Given the description of an element on the screen output the (x, y) to click on. 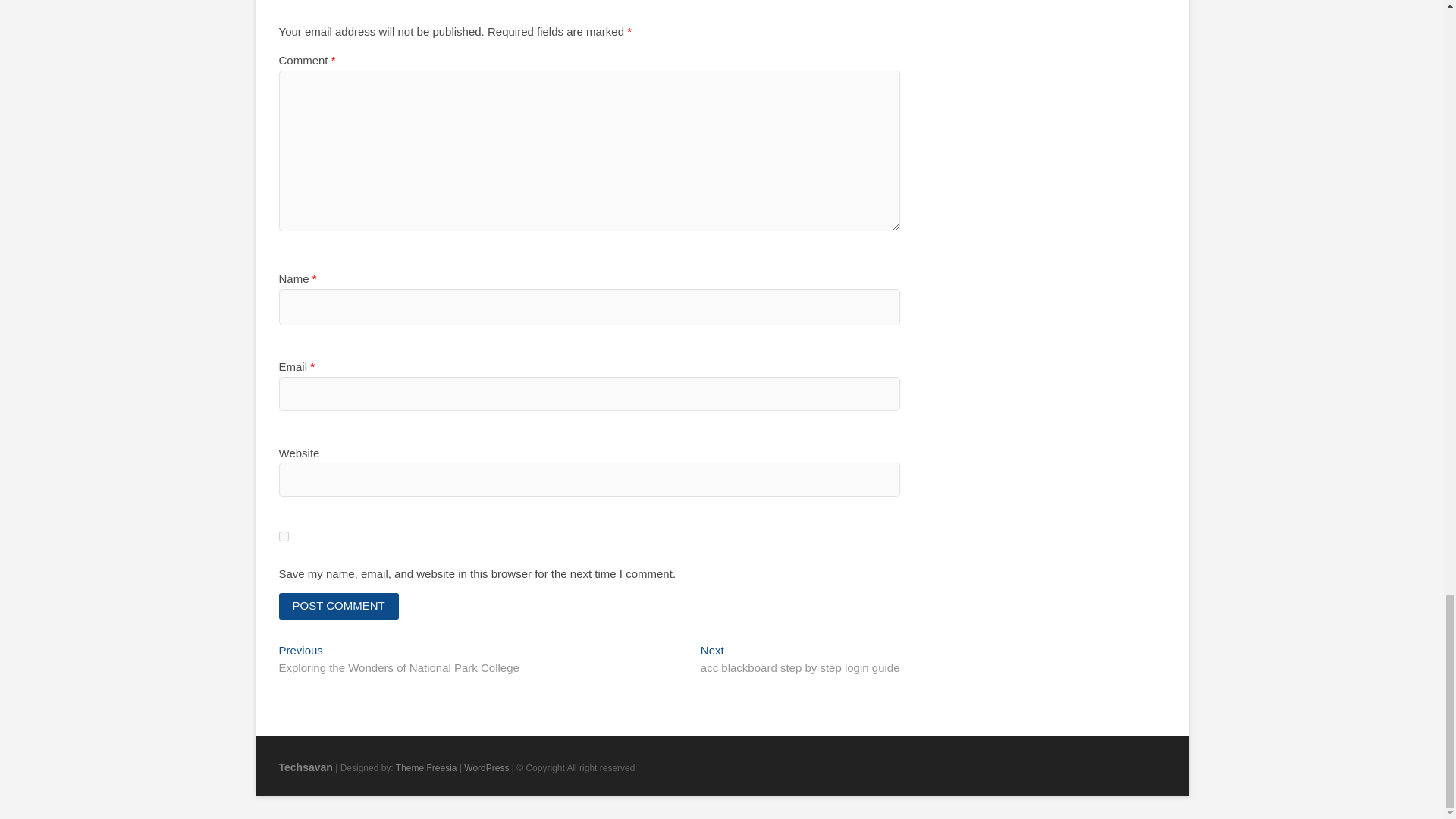
Techsavan (799, 660)
Post Comment (306, 767)
Techsavan (338, 605)
WordPress (306, 767)
WordPress (486, 767)
Theme Freesia (486, 767)
yes (426, 767)
Post Comment (283, 536)
Theme Freesia (338, 605)
